Given the description of an element on the screen output the (x, y) to click on. 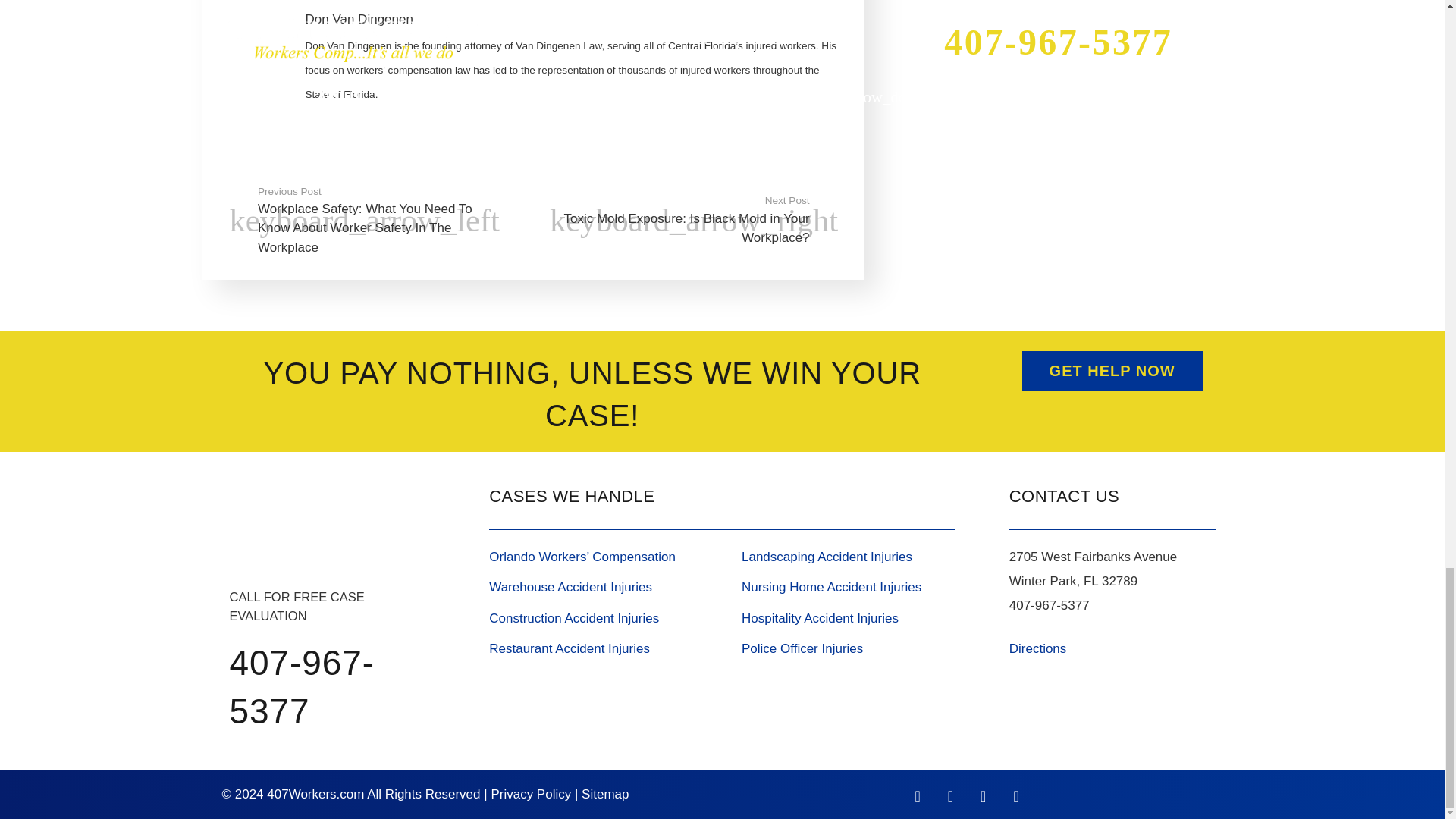
Contact Us (1112, 370)
Toxic Mold Exposure: Is Black Mold in Your Workplace? (686, 220)
